Given the description of an element on the screen output the (x, y) to click on. 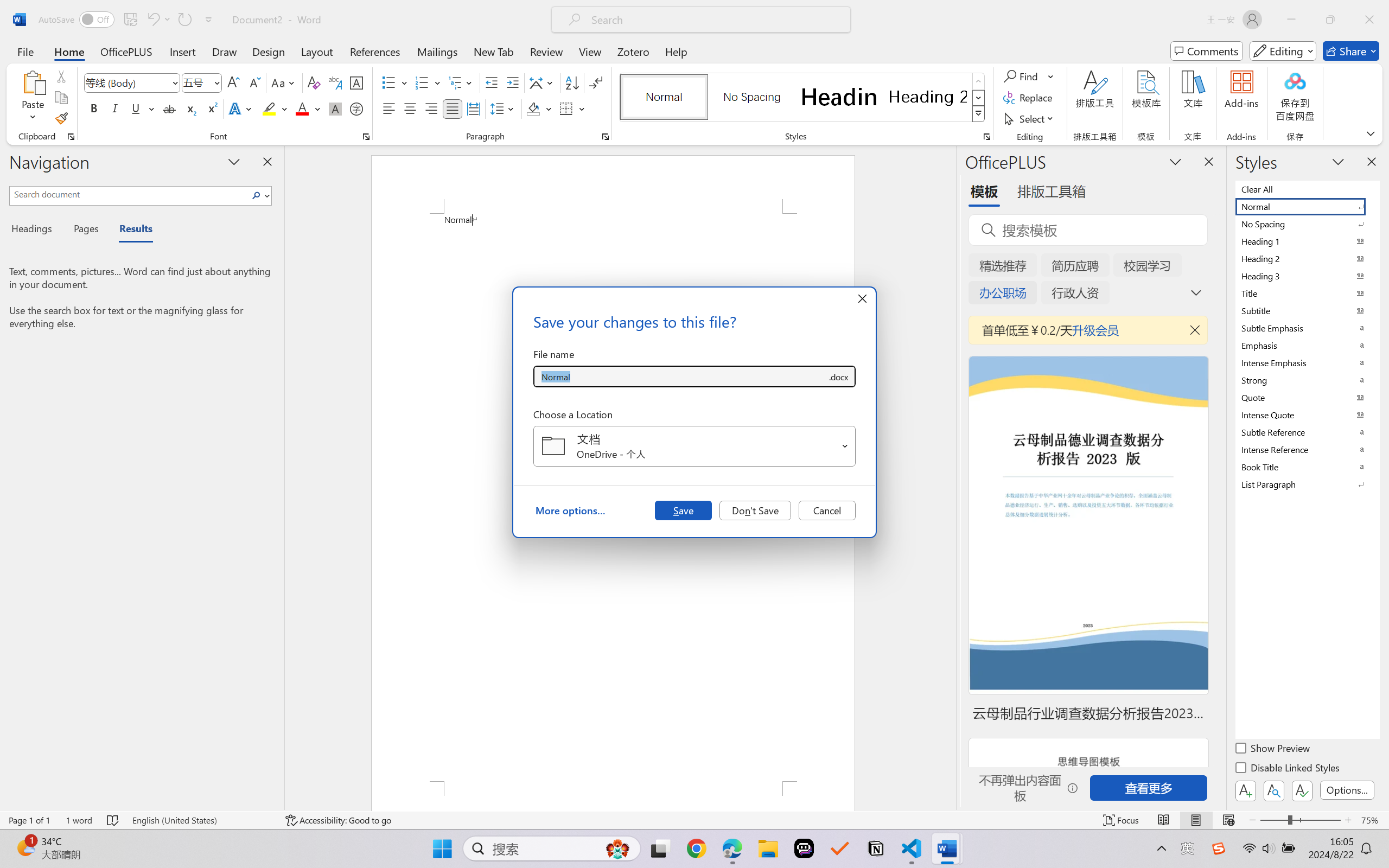
Center (409, 108)
Mode (1283, 50)
Repeat Doc Close (184, 19)
Clear Formatting (313, 82)
Shrink Font (253, 82)
Save as type (837, 376)
New Tab (493, 51)
Styles (978, 113)
Replace... (1029, 97)
Cut (60, 75)
Task Pane Options (1175, 161)
